Given the description of an element on the screen output the (x, y) to click on. 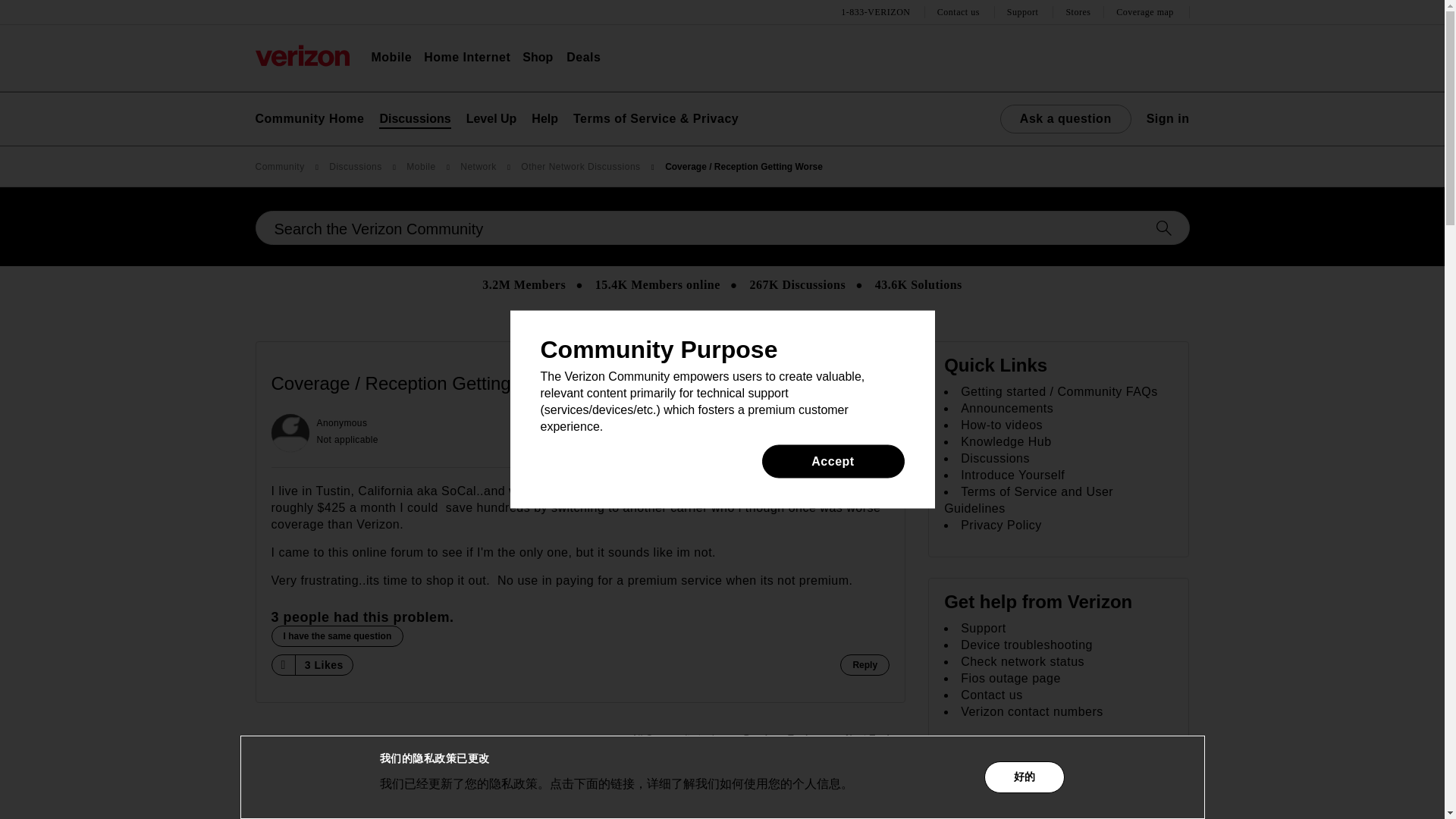
Verizon Home Page (301, 55)
Show option menu (874, 383)
Search (721, 227)
Click here to see who gave likes to this post. (323, 665)
Home Internet (467, 57)
Other Network Discussions (677, 738)
Mobile (391, 57)
Shop (537, 57)
How can I turn off  International calls on my phone from USA (874, 738)
Stores (1078, 12)
Support (1024, 12)
Contact us (959, 12)
Coverage map (1146, 12)
Click here if you had a similar experience (337, 636)
Click here to give likes to this post. (282, 664)
